Given the description of an element on the screen output the (x, y) to click on. 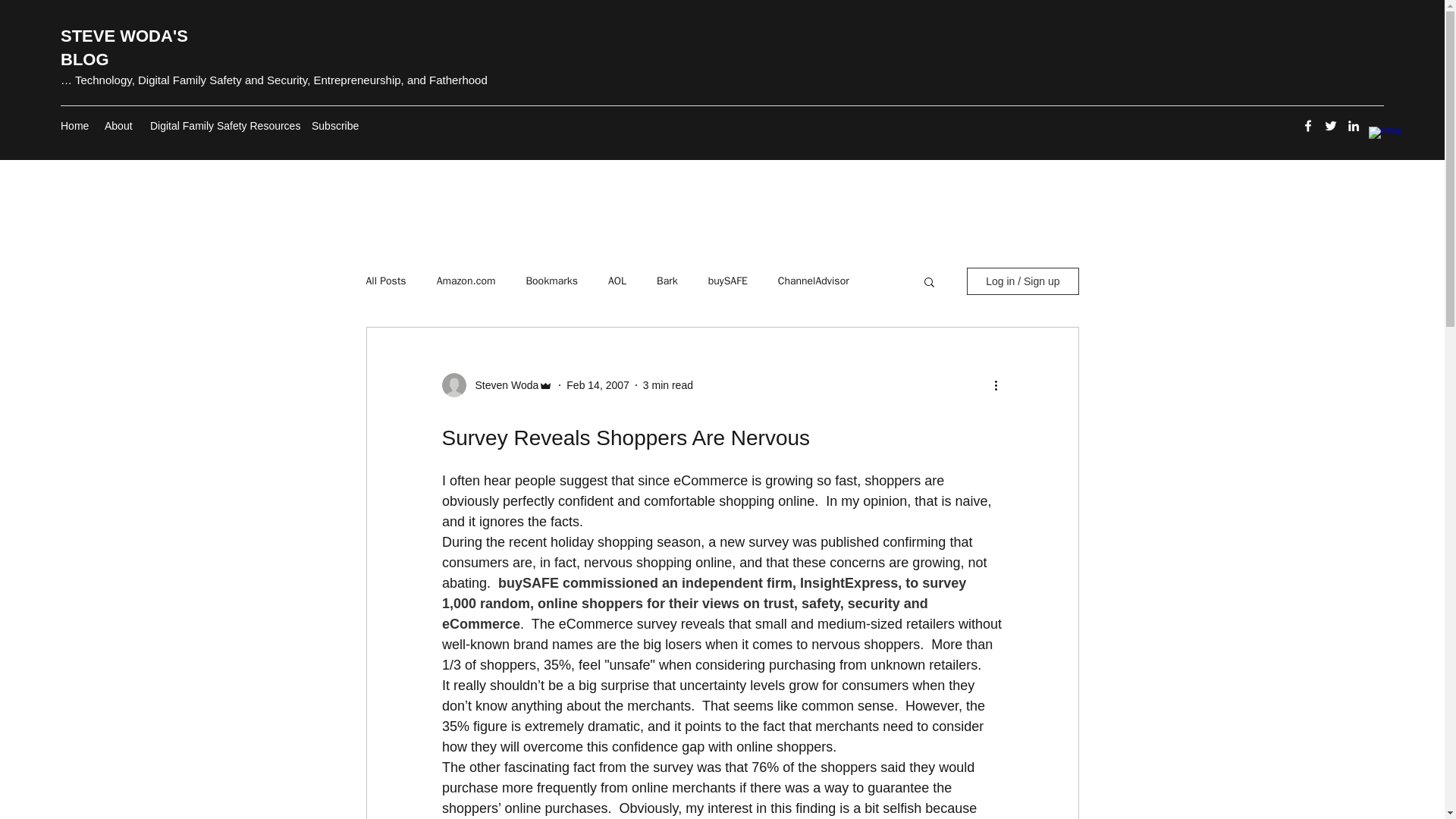
STEVE WODA'S BLOG (124, 47)
Bookmarks (551, 281)
Subscribe (335, 125)
Bark (667, 281)
buySAFE (727, 281)
Amazon.com (466, 281)
Feb 14, 2007 (597, 385)
All Posts (385, 281)
Digital Family Safety Resources (223, 125)
Home (74, 125)
